Given the description of an element on the screen output the (x, y) to click on. 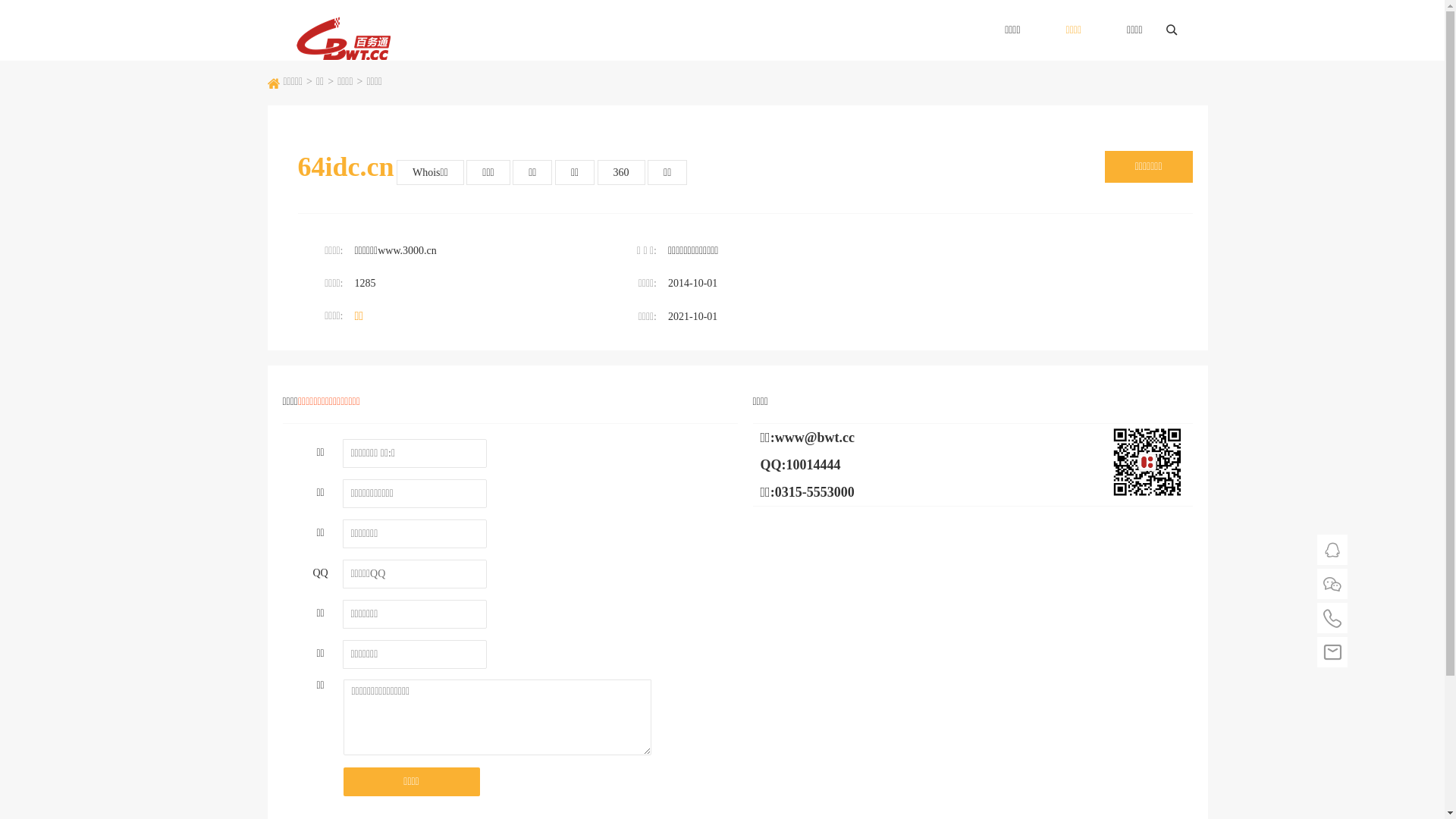
360 Element type: text (621, 172)
